Given the description of an element on the screen output the (x, y) to click on. 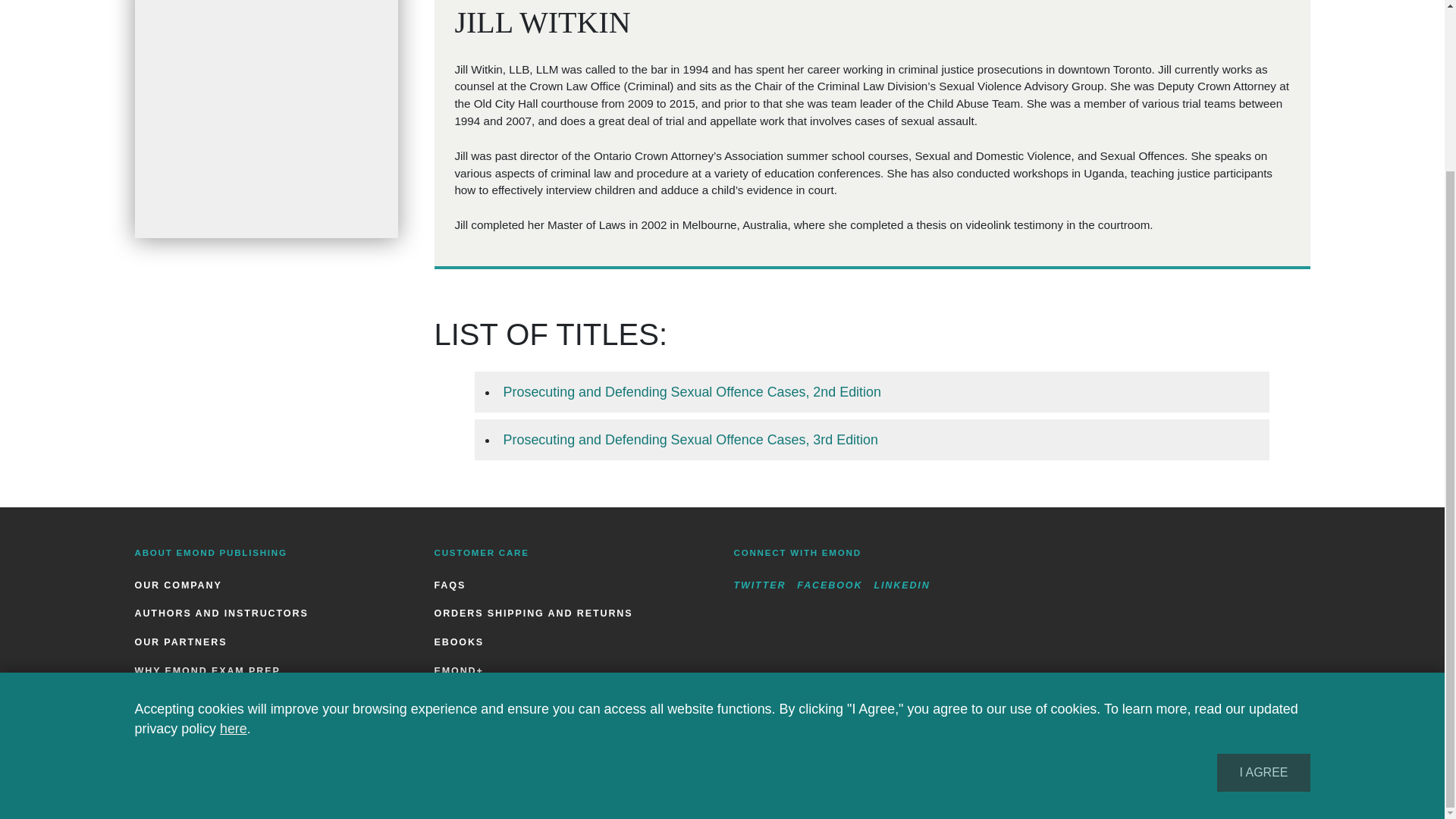
LinkedIn (901, 584)
Facebook (828, 584)
I agree (1262, 566)
Twitter (759, 584)
